Given the description of an element on the screen output the (x, y) to click on. 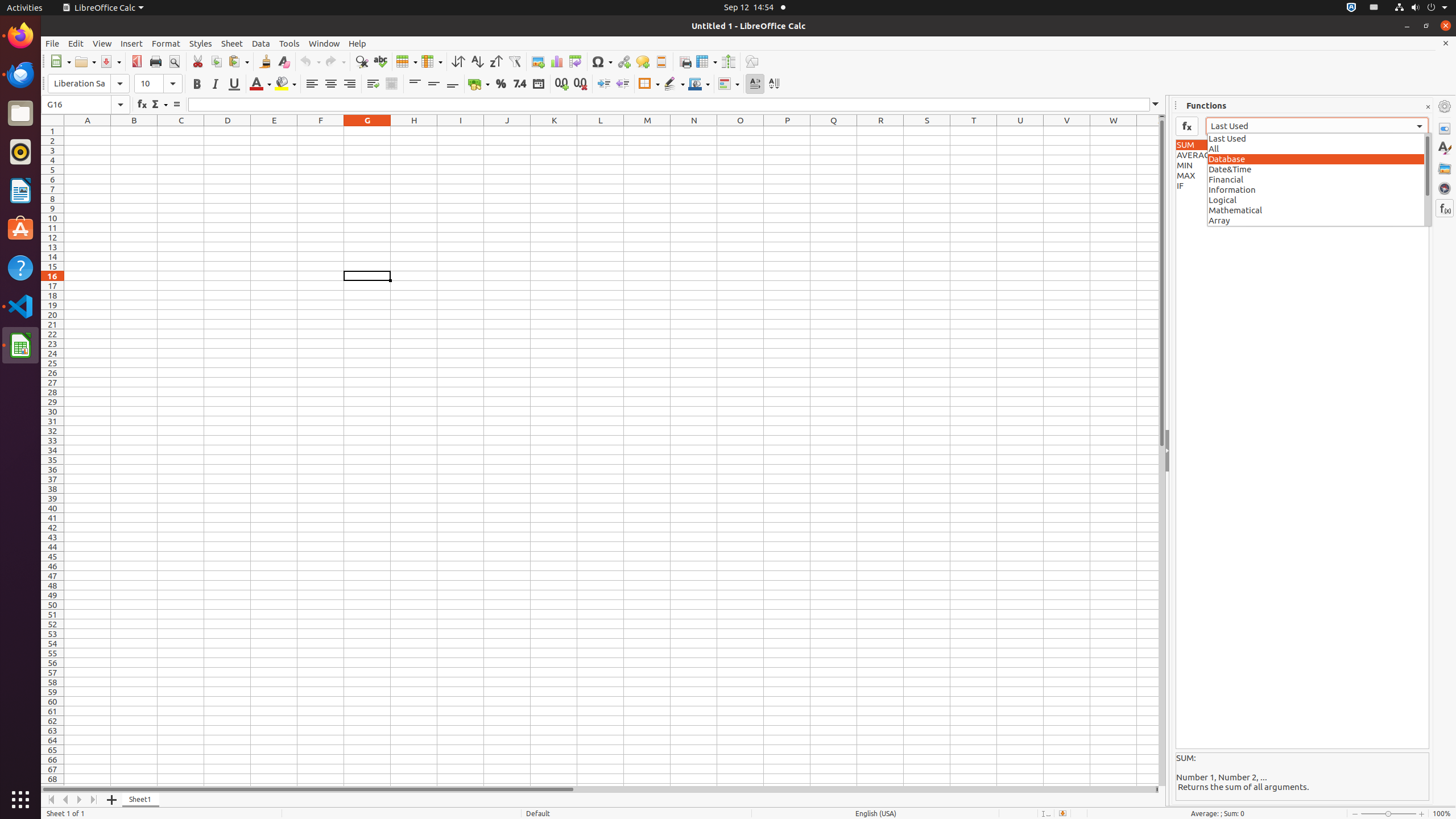
Thunderbird Mail Element type: push-button (20, 74)
Font Size Element type: combo-box (158, 83)
Sheet1 Element type: page-tab (140, 799)
Mathematical Element type: list-item (1319, 209)
Column Element type: push-button (431, 61)
